Given the description of an element on the screen output the (x, y) to click on. 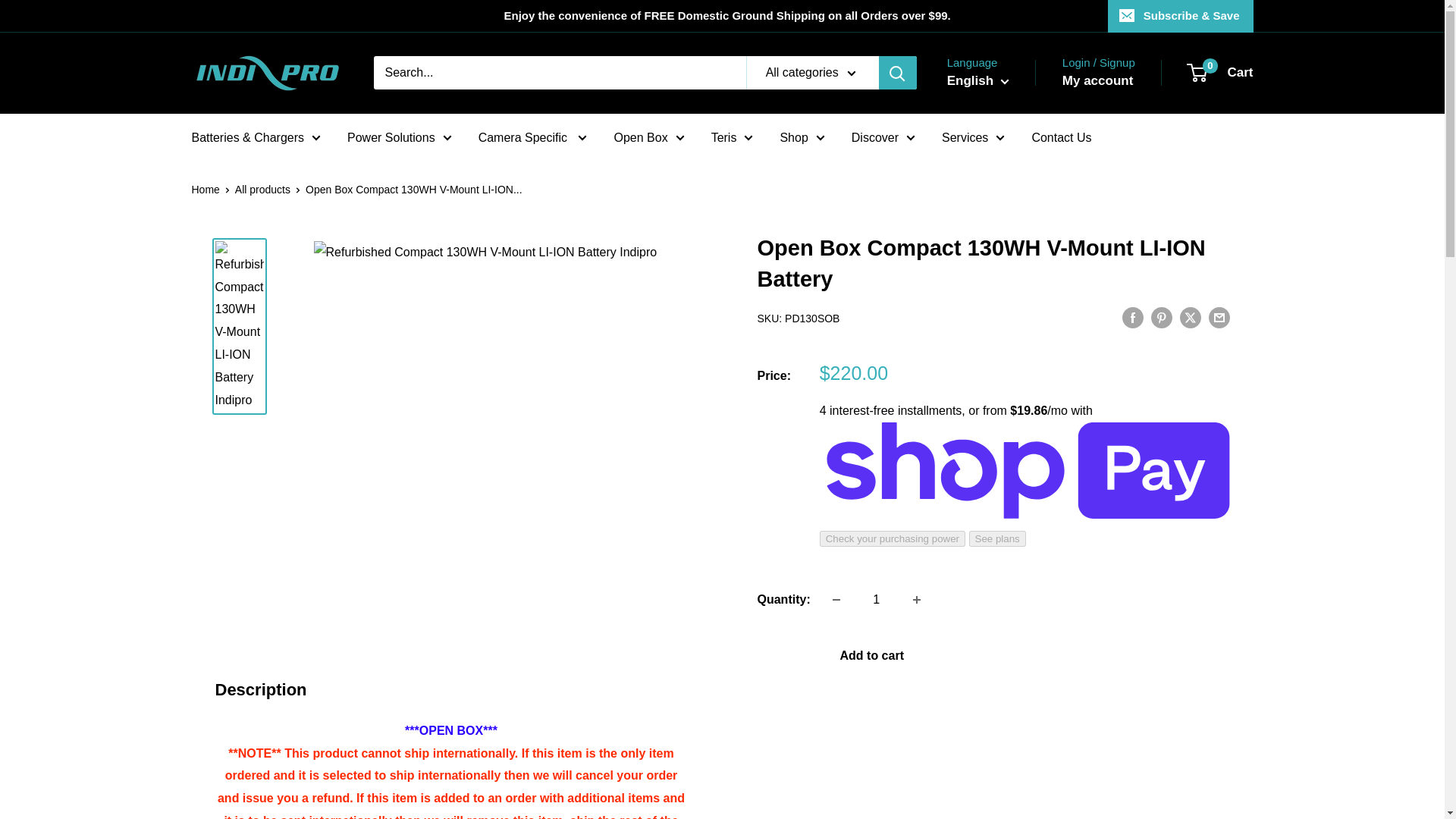
Increase quantity by 1 (917, 599)
1 (876, 599)
Decrease quantity by 1 (836, 599)
